Given the description of an element on the screen output the (x, y) to click on. 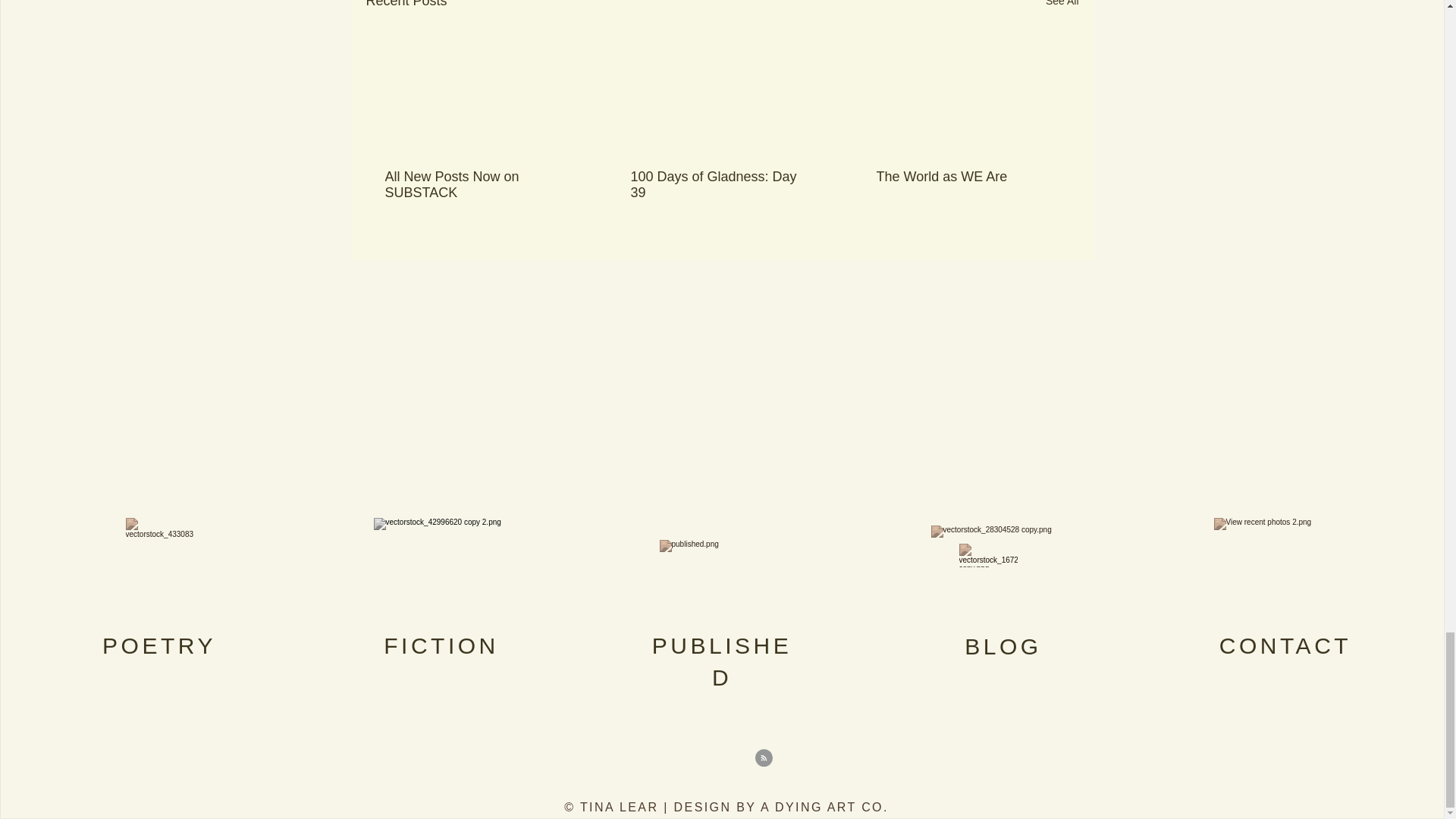
CONTACT (1285, 645)
POETRY (158, 645)
FICTION (441, 645)
PUBLISHED (722, 661)
The World as WE Are (967, 176)
100 Days of Gladness: Day 39 (721, 184)
BLOG (1002, 646)
All New Posts Now on SUBSTACK (476, 184)
See All (1061, 6)
